Given the description of an element on the screen output the (x, y) to click on. 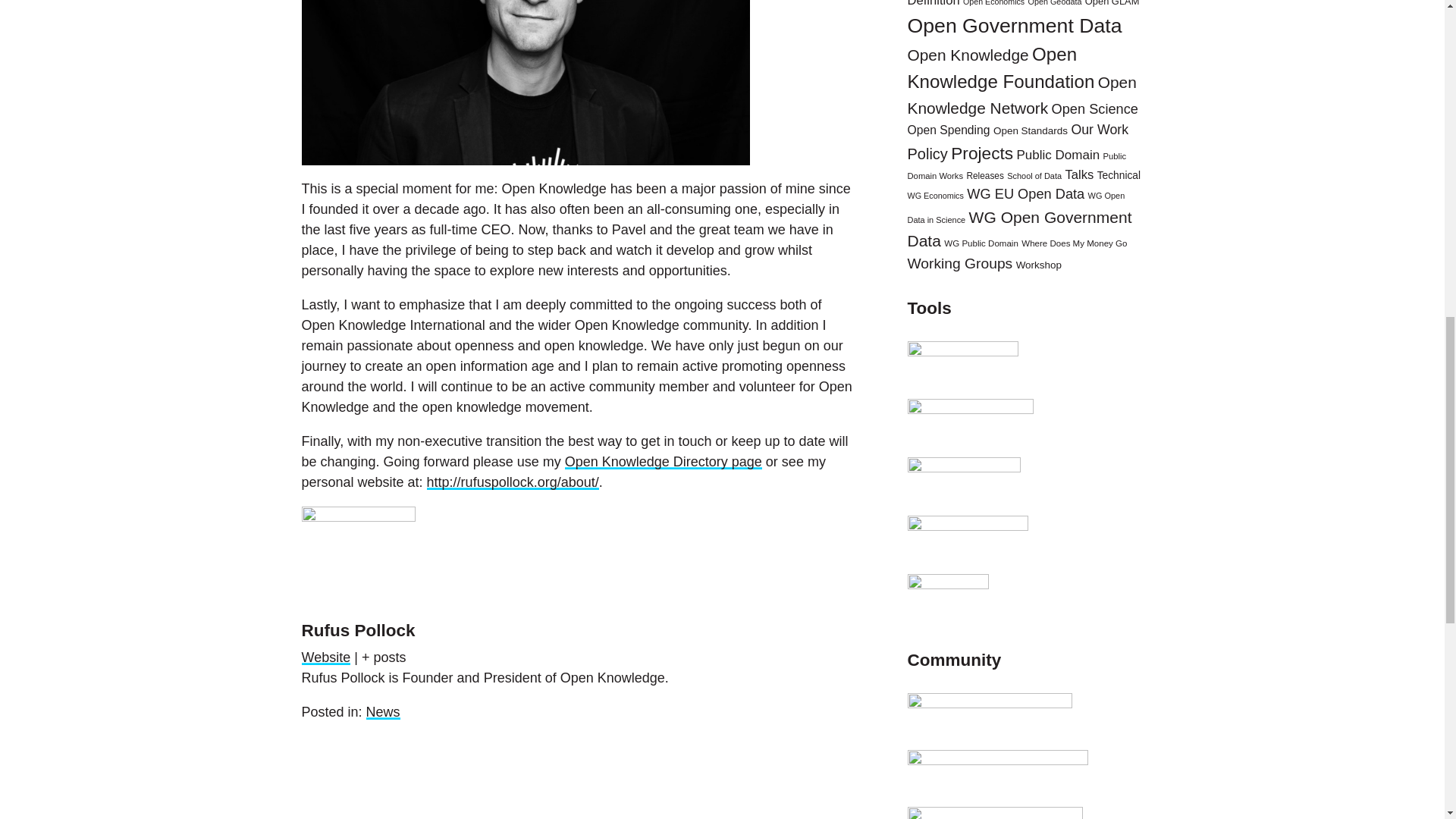
Rufus Pollock (357, 629)
Open Knowledge Directory page (662, 461)
Website (325, 657)
News (383, 711)
